Given the description of an element on the screen output the (x, y) to click on. 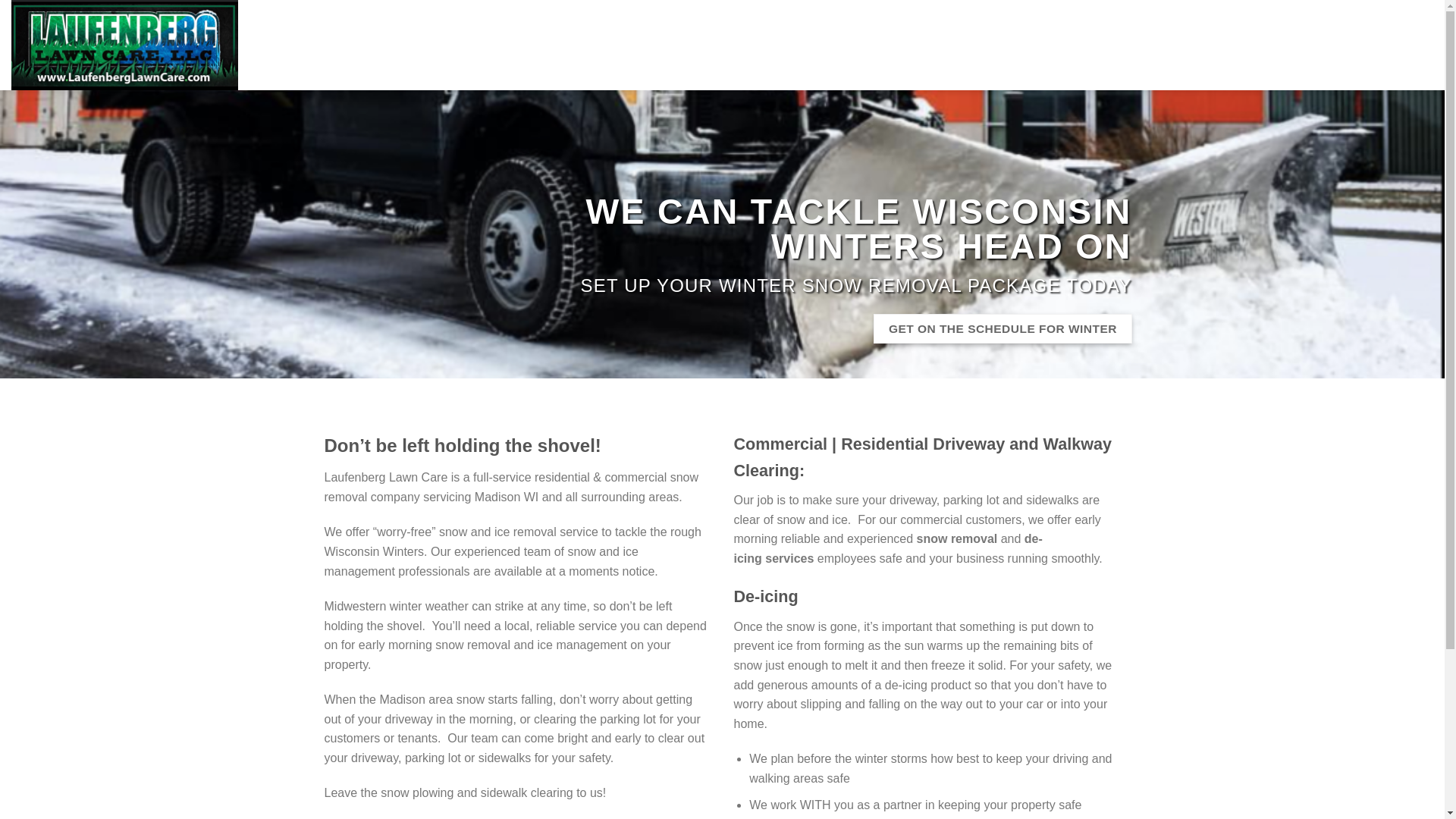
GET ON THE SCHEDULE FOR WINTER (1002, 328)
Follow on Instagram (1422, 44)
LAWN CARE SERVICES (1006, 44)
HOME (850, 44)
CONTACT (1283, 44)
ABOUT (905, 44)
Follow on Facebook (1403, 44)
